Given the description of an element on the screen output the (x, y) to click on. 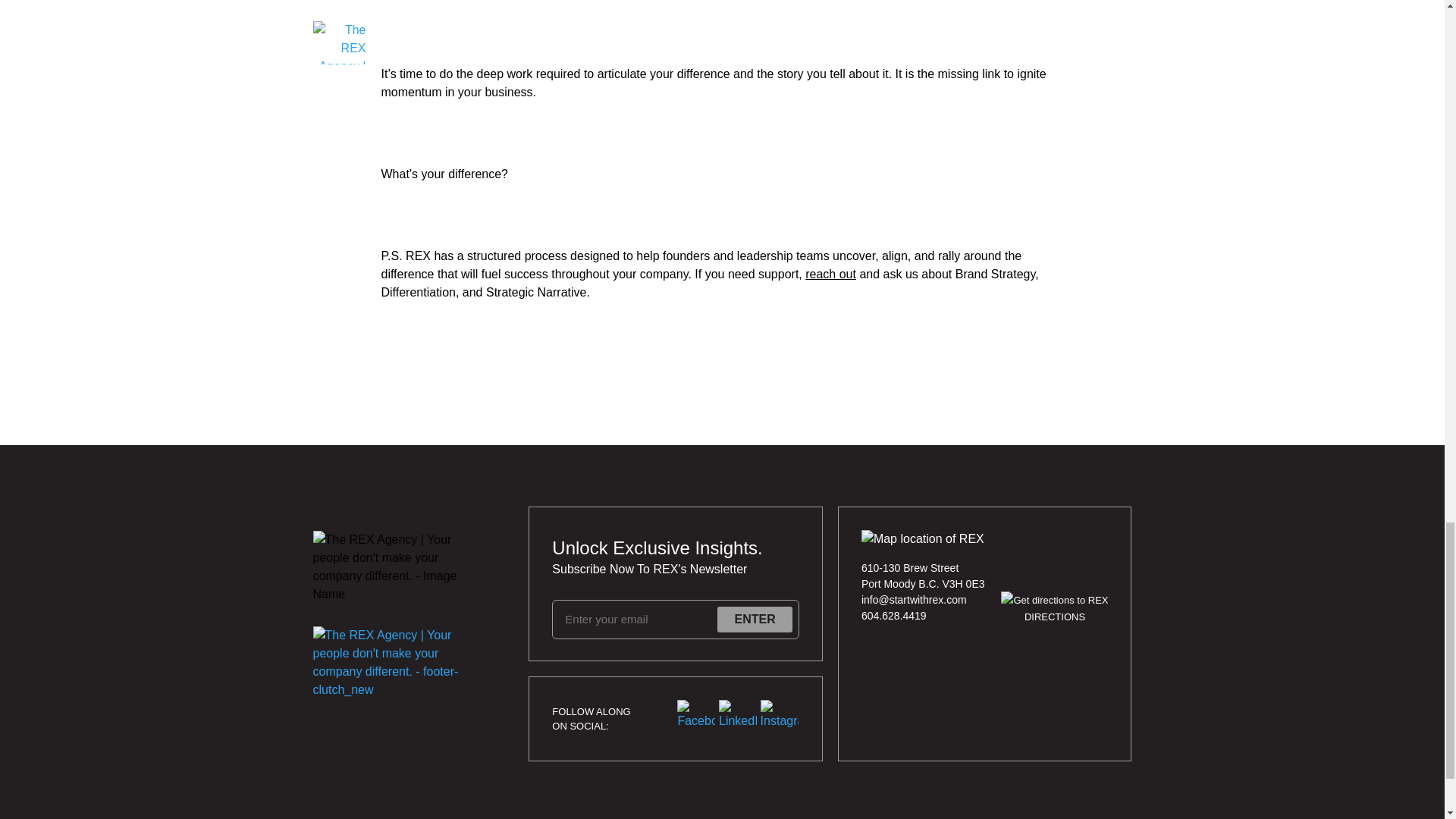
Enter (754, 619)
604.628.4419 (923, 616)
reach out (830, 273)
Enter (754, 619)
